Given the description of an element on the screen output the (x, y) to click on. 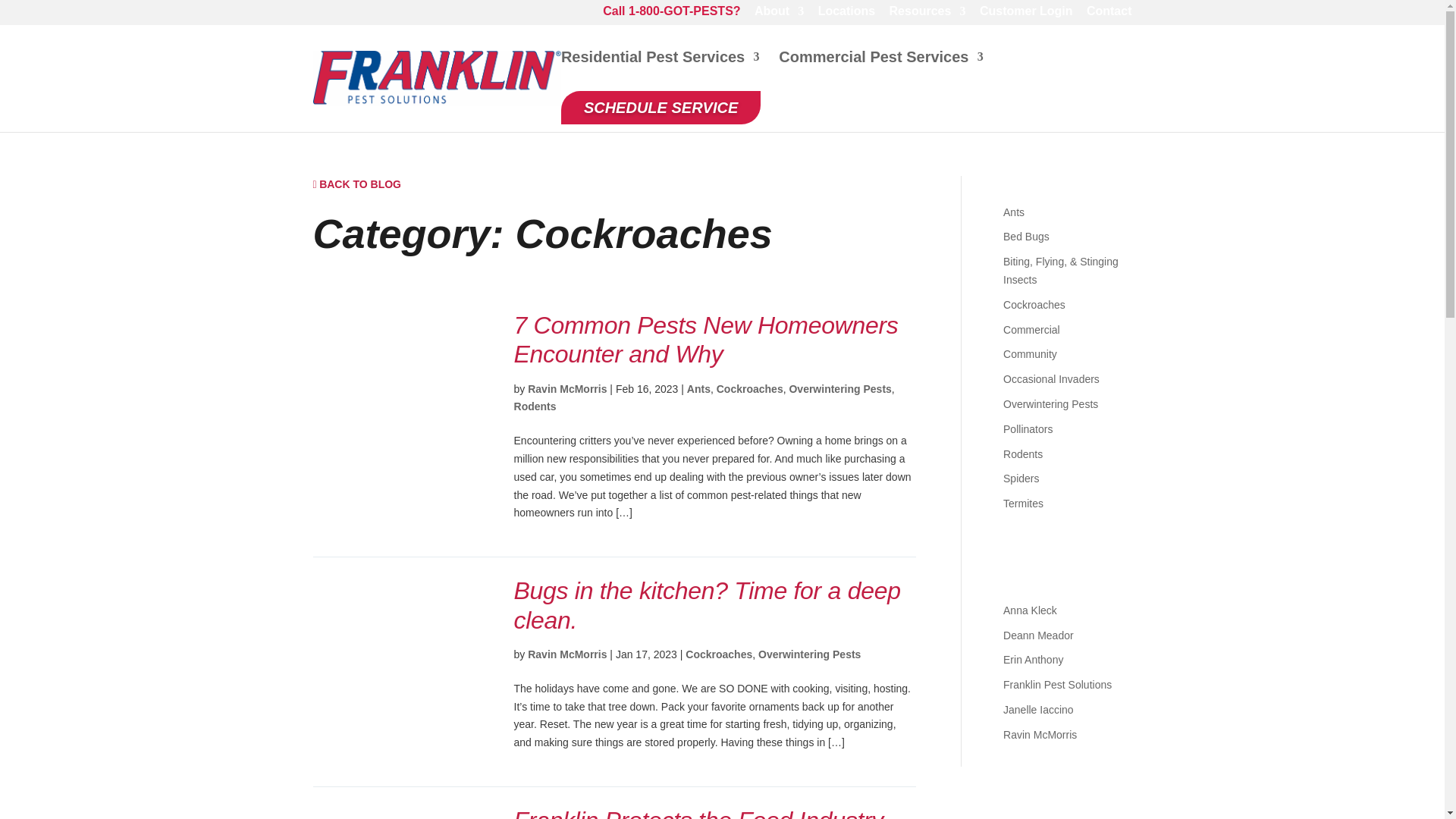
Contact (1109, 15)
Resources (927, 15)
Posts by Ravin McMorris (567, 654)
Posts by Janelle Iaccino (1038, 709)
Posts by Ravin McMorris (567, 388)
About (778, 15)
Posts by Deann Meador (1038, 635)
Posts by Ravin McMorris (1040, 734)
Locations (847, 15)
Commercial Pest Services (880, 68)
